Given the description of an element on the screen output the (x, y) to click on. 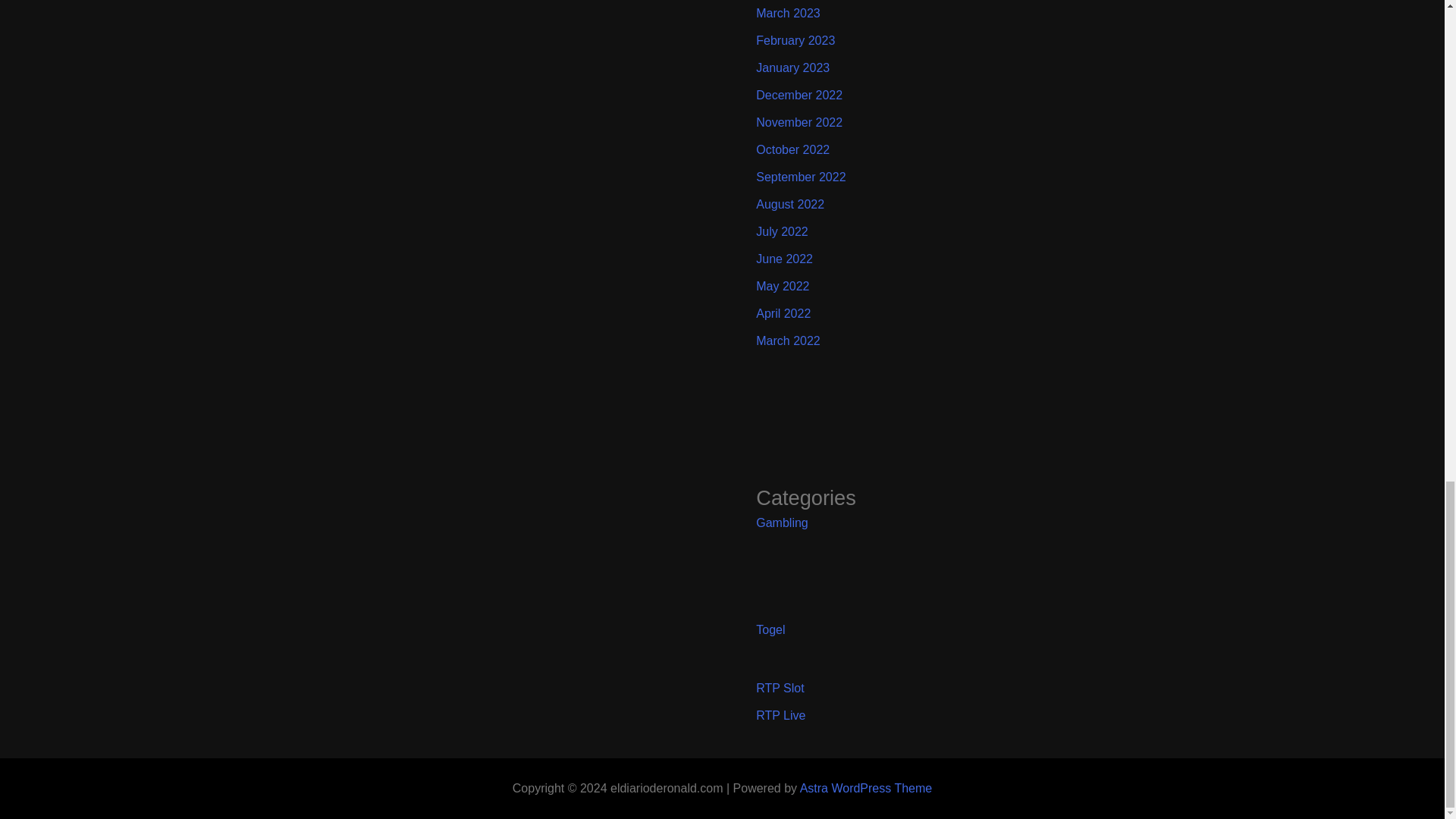
January 2023 (792, 67)
December 2022 (799, 94)
February 2023 (794, 40)
October 2022 (792, 149)
March 2023 (788, 12)
November 2022 (799, 122)
